Given the description of an element on the screen output the (x, y) to click on. 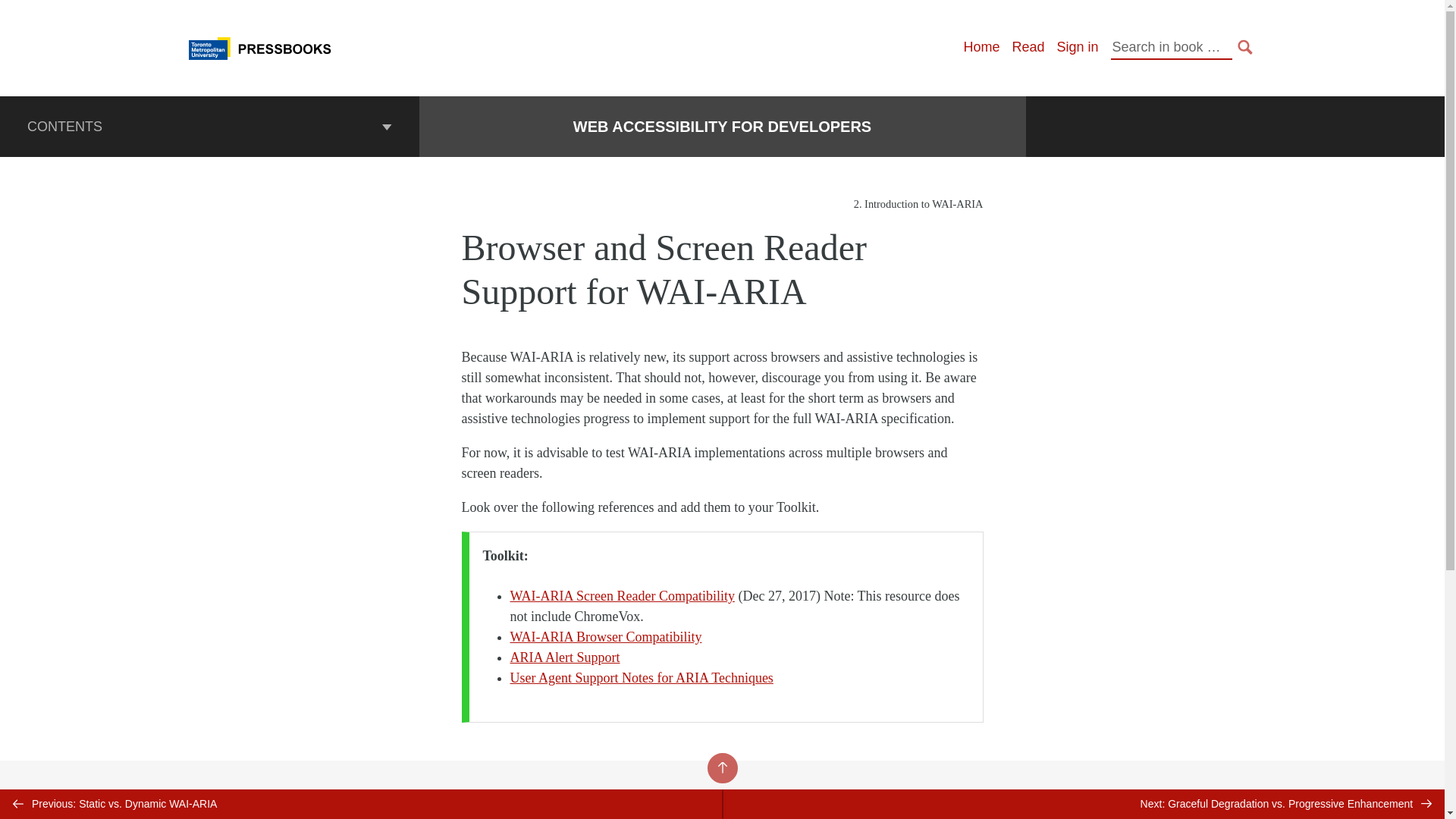
User Agent Support Notes for ARIA Techniques (641, 677)
Home (980, 46)
BACK TO TOP (721, 767)
WAI-ARIA Screen Reader Compatibility (621, 595)
CONTENTS (209, 126)
WAI-ARIA Browser Compatibility (605, 636)
Previous: Static vs. Dynamic WAI-ARIA (361, 804)
WEB ACCESSIBILITY FOR DEVELOPERS (721, 126)
ARIA Alert Support (564, 657)
Read (1027, 46)
